Given the description of an element on the screen output the (x, y) to click on. 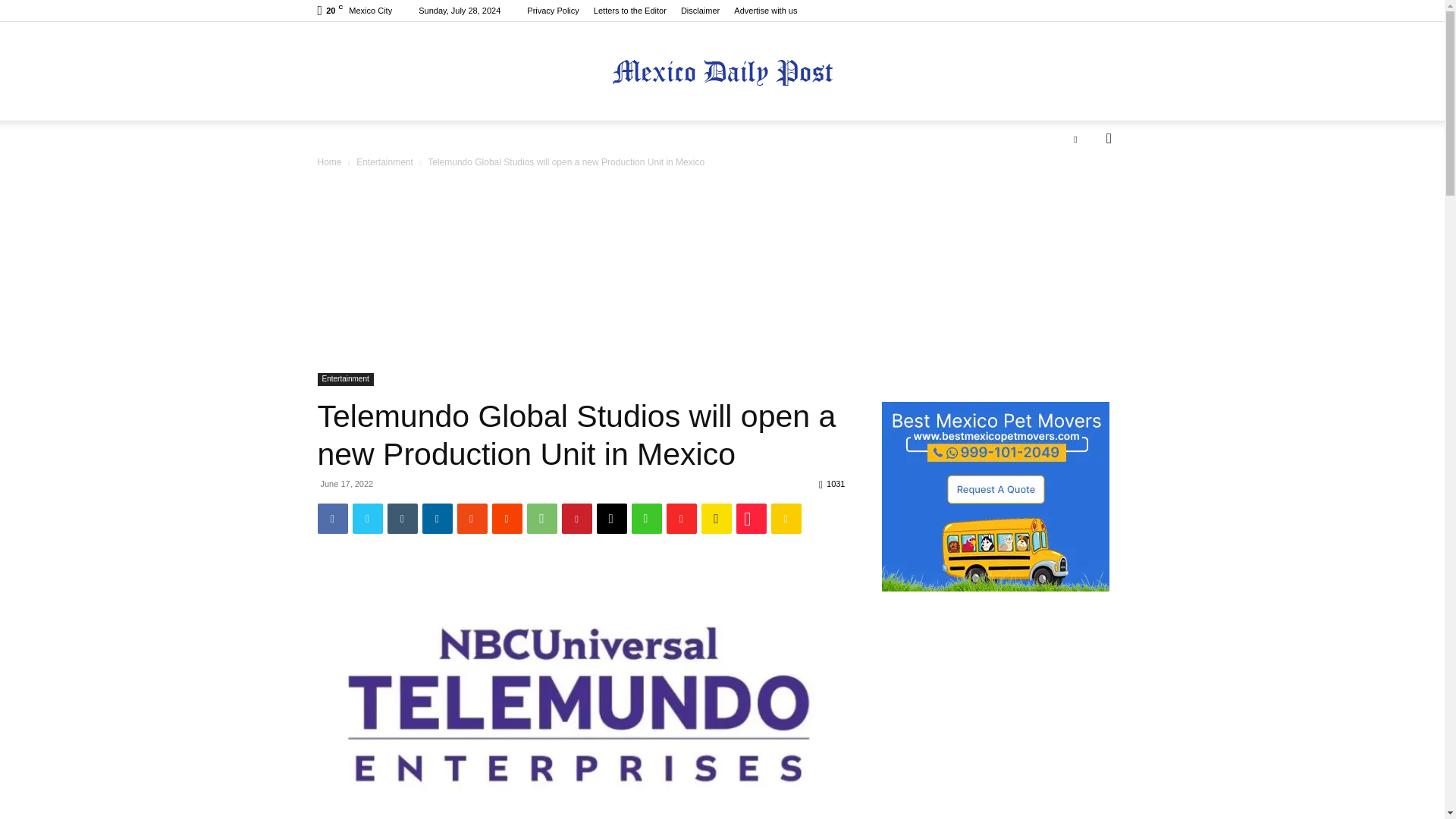
View all posts in Entertainment (384, 162)
Pinterest (575, 518)
Kakao Story (715, 518)
Disclaimer (700, 10)
ReddIt (506, 518)
Home (328, 162)
Search (1085, 199)
WhatsApp (540, 518)
Entertainment (344, 379)
Letters to the Editor (630, 10)
Tumblr (401, 518)
Entertainment (384, 162)
Twitter (1075, 138)
Facebook (332, 518)
